Given the description of an element on the screen output the (x, y) to click on. 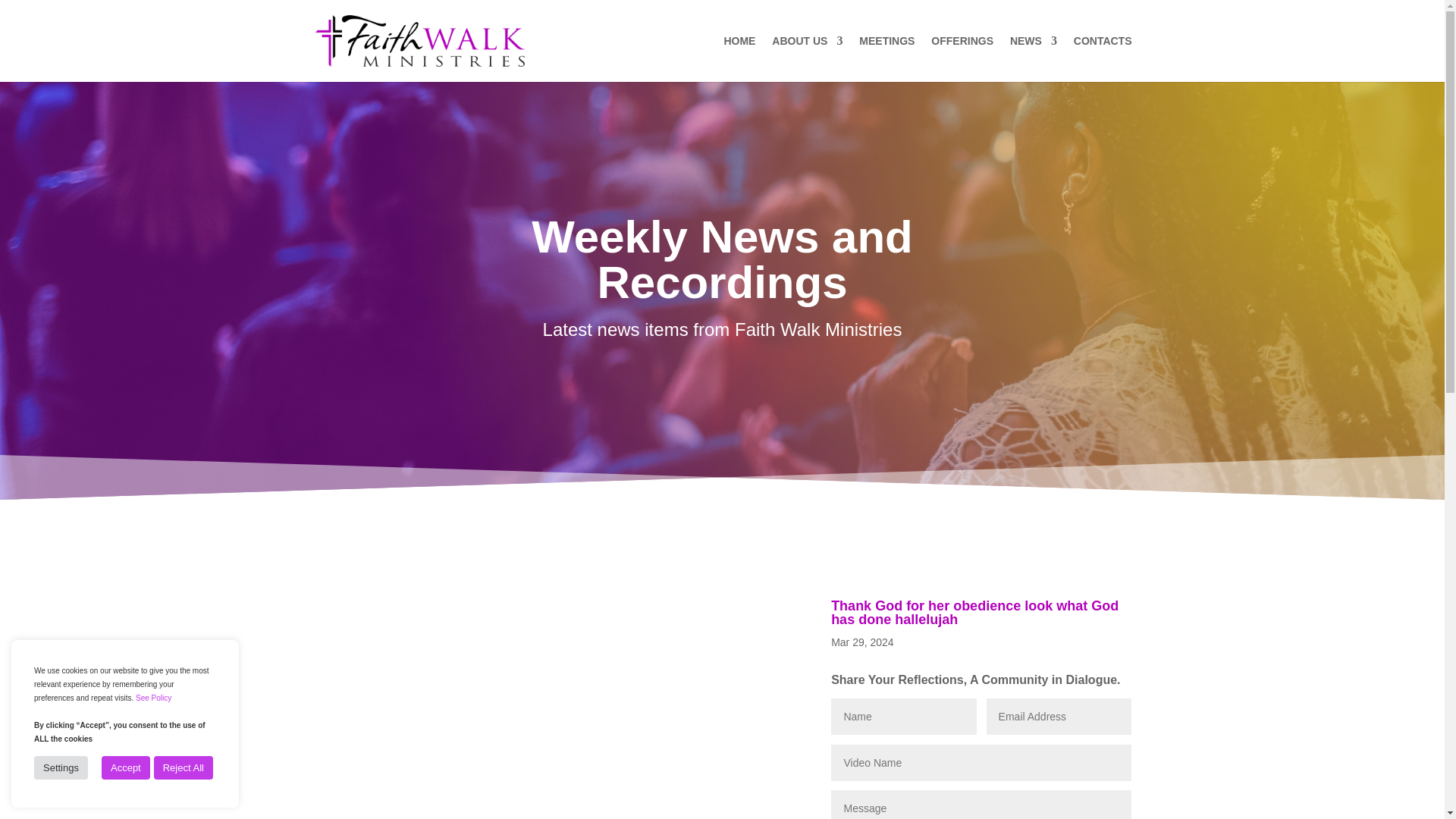
Reject All (183, 767)
NEWS (1033, 58)
OFFERINGS (961, 58)
Settings (60, 767)
MEETINGS (886, 58)
ABOUT US (807, 58)
Accept (125, 767)
CONTACTS (1103, 58)
See Policy (153, 697)
